Given the description of an element on the screen output the (x, y) to click on. 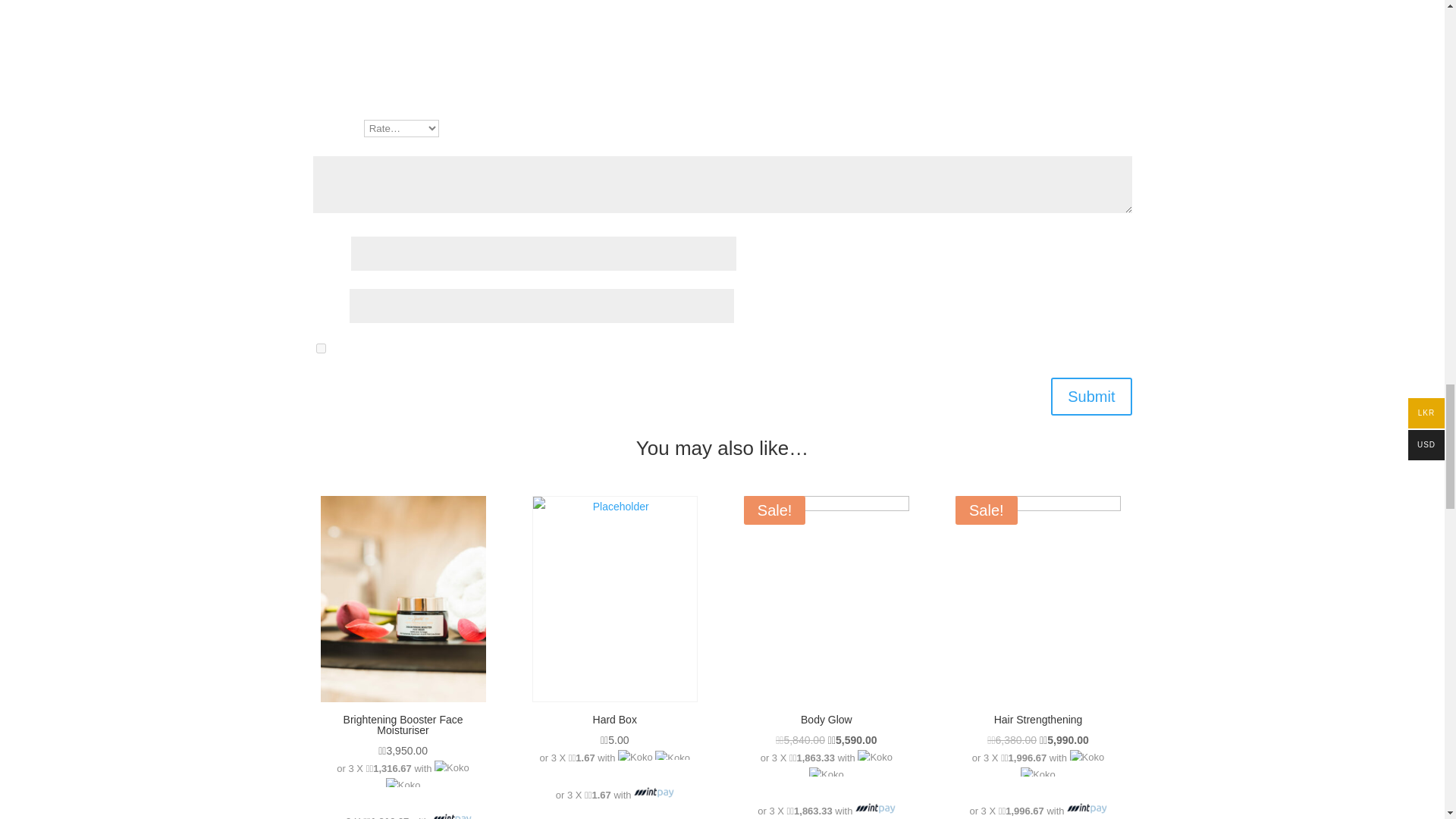
yes (319, 347)
